Given the description of an element on the screen output the (x, y) to click on. 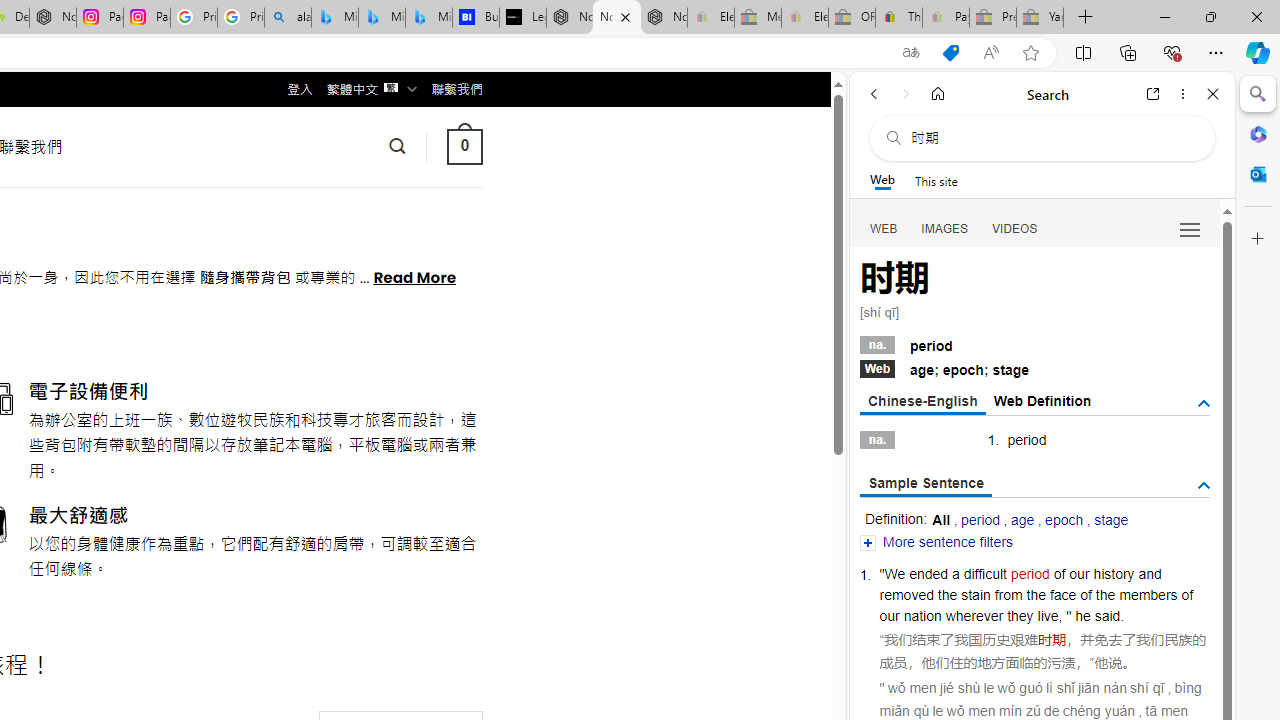
period (1029, 573)
VIDEOS (1015, 228)
AutomationID: tgdef_sen (1203, 485)
face (1062, 594)
Outlook (1258, 174)
